Given the description of an element on the screen output the (x, y) to click on. 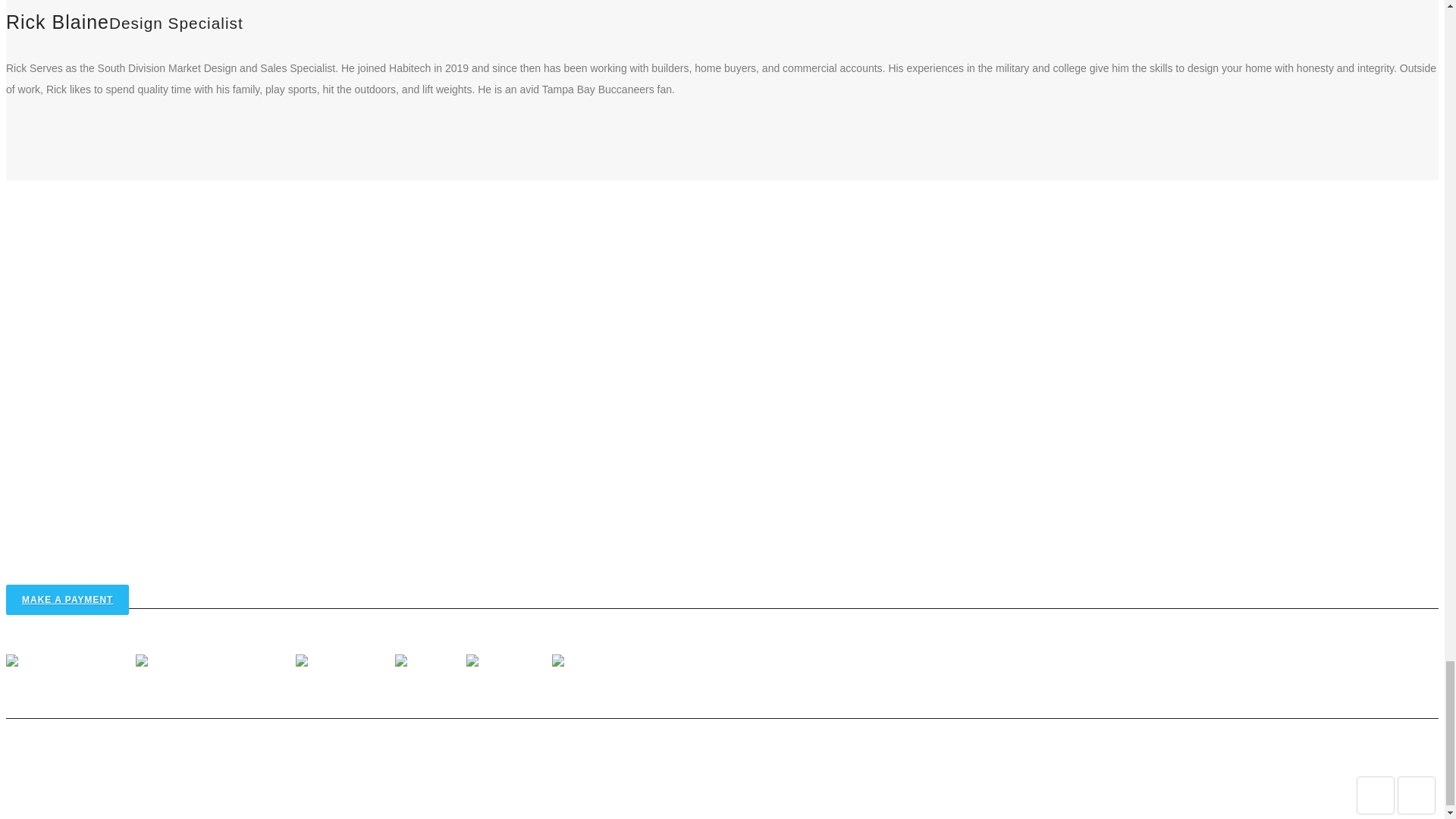
POWERED BY RIZE MARKETING (1258, 757)
MAKE A PAYMENT (67, 599)
Footer - NEFBA (506, 662)
PRIVACY POLICY (1145, 757)
Footer - Logo - Control4 Pinnacle (214, 662)
Rize Marketing (1258, 757)
Footer - Logo - Alarm.com (68, 662)
Click Here to Email Us (65, 563)
Footer - Volusia (592, 662)
Footer - ESA (429, 662)
Footer - Logo - AIN (343, 662)
